Given the description of an element on the screen output the (x, y) to click on. 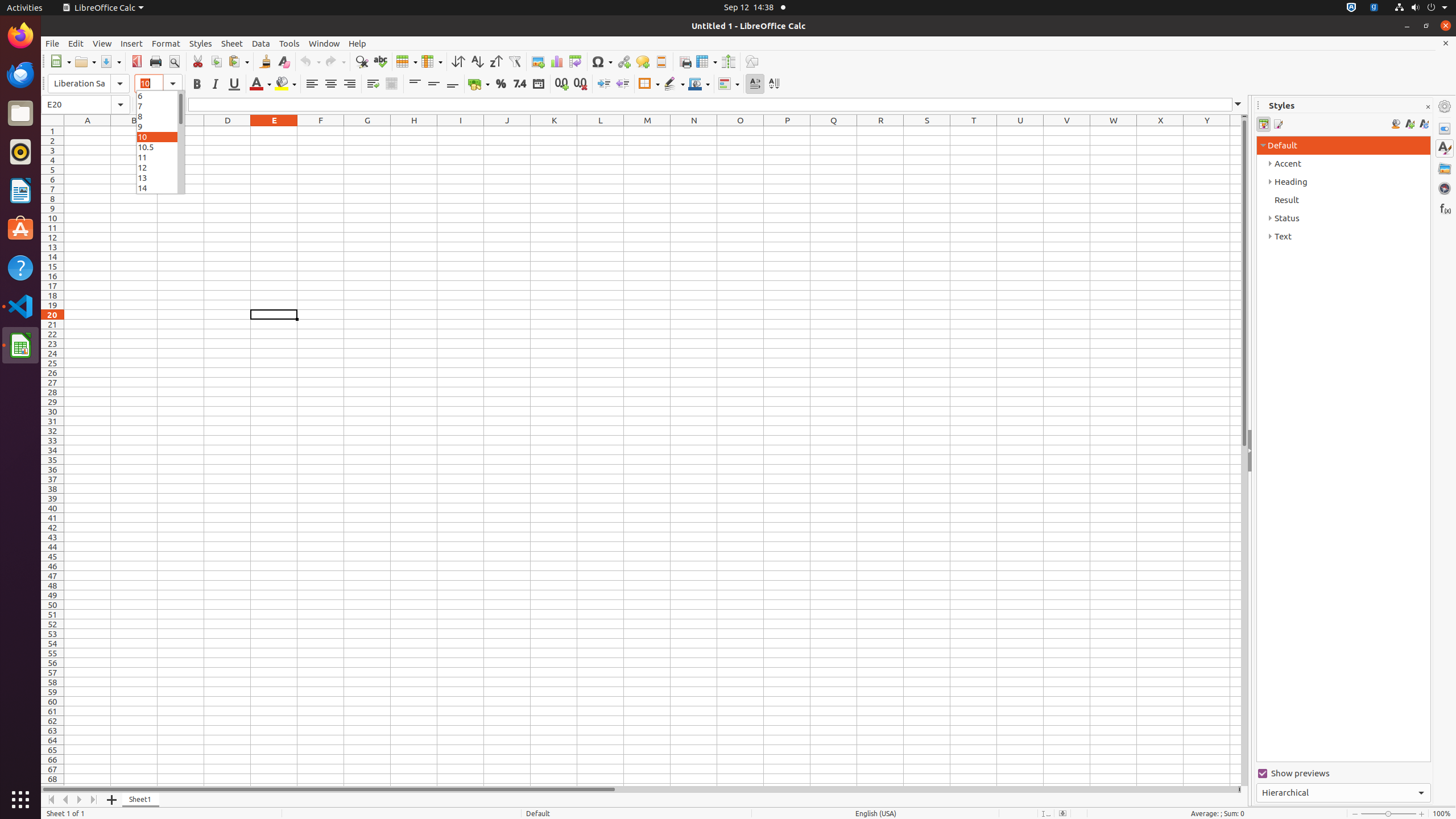
O1 Element type: table-cell (740, 130)
Functions Element type: radio-button (1444, 208)
T1 Element type: table-cell (973, 130)
Show Applications Element type: toggle-button (20, 799)
Split Window Element type: push-button (727, 61)
